Given the description of an element on the screen output the (x, y) to click on. 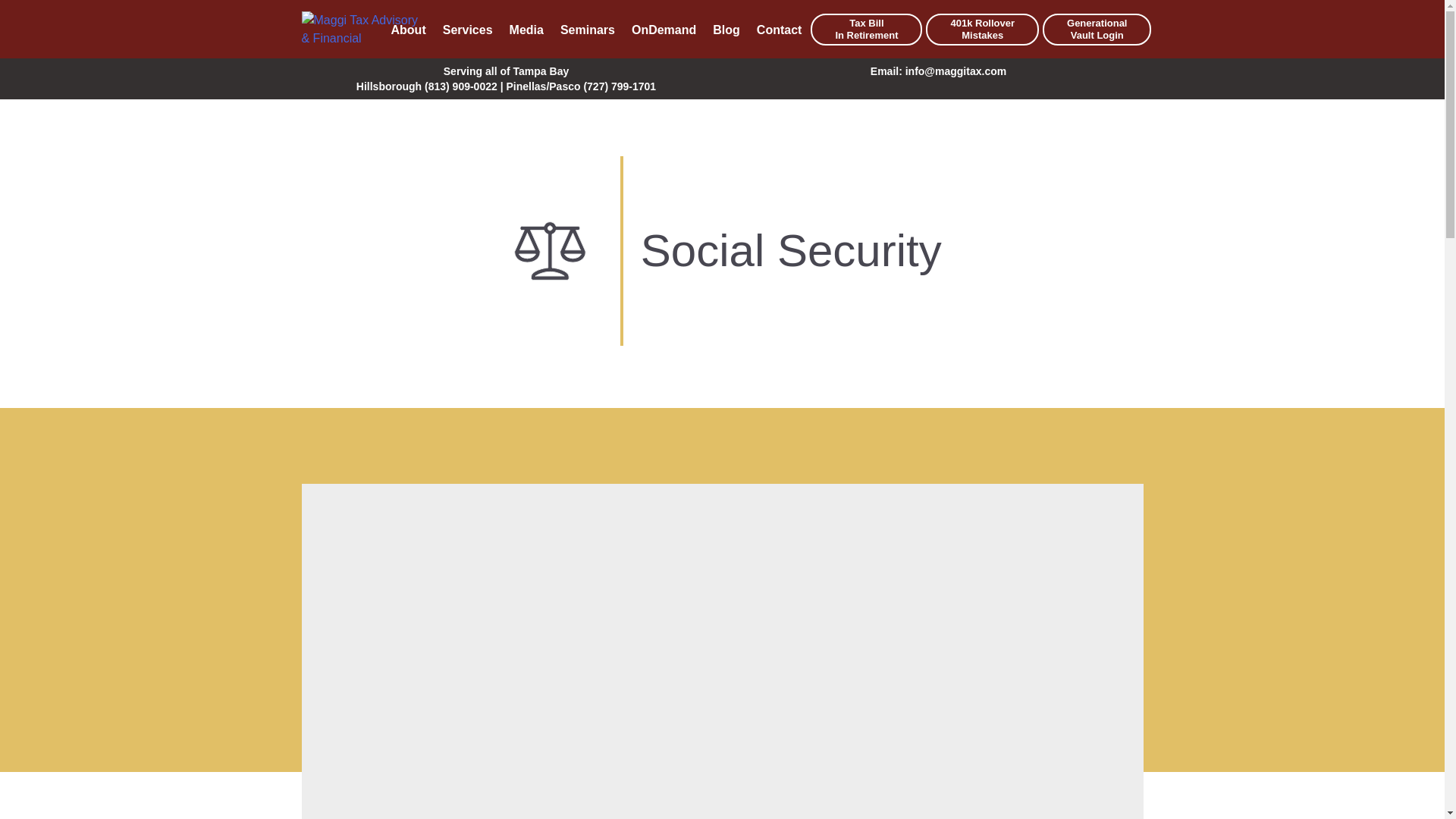
Services (466, 30)
Media (865, 29)
OnDemand (525, 30)
Seminars (663, 30)
Contact (587, 30)
About (779, 30)
